Given the description of an element on the screen output the (x, y) to click on. 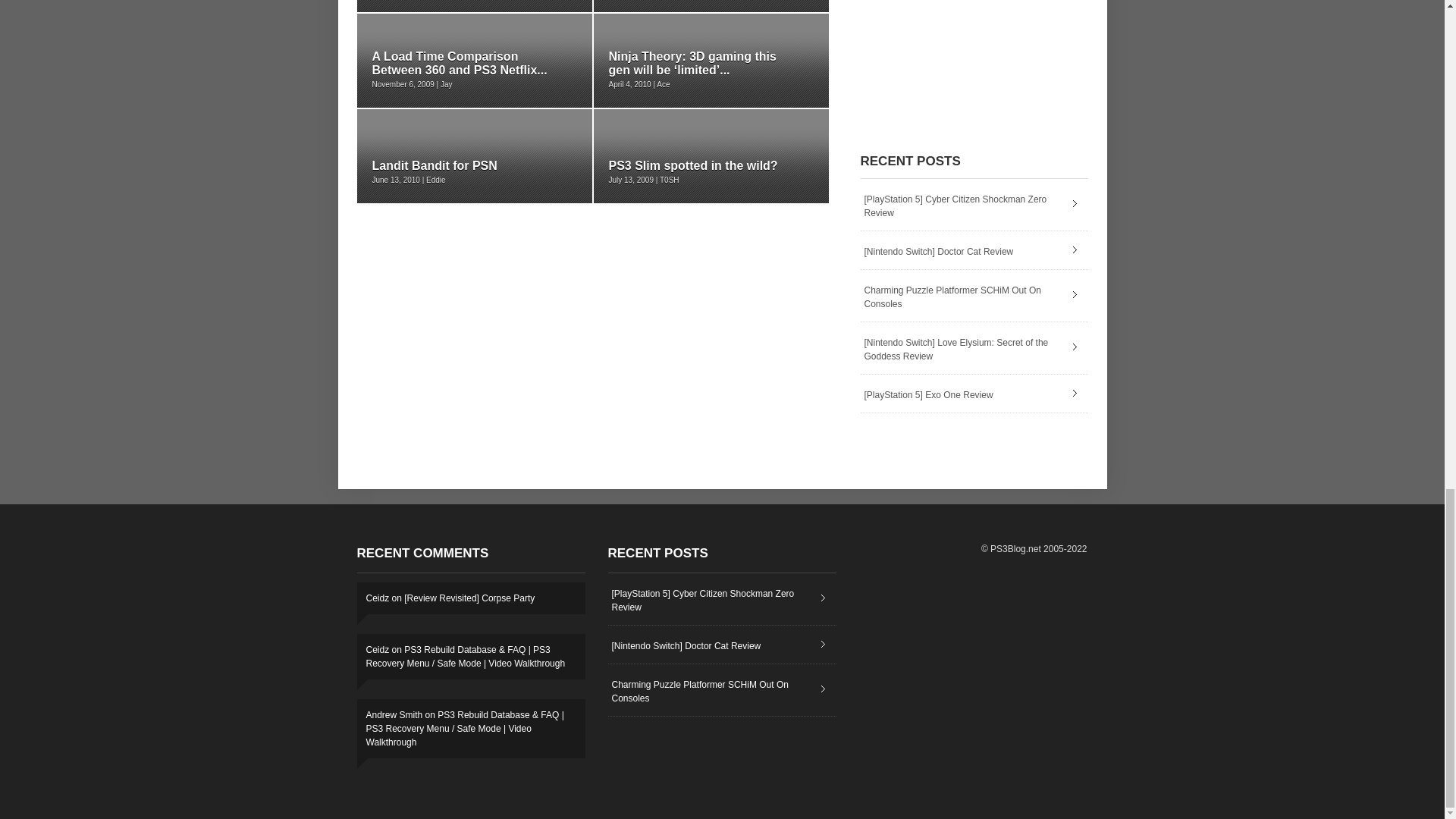
Advertisement (973, 55)
